Given the description of an element on the screen output the (x, y) to click on. 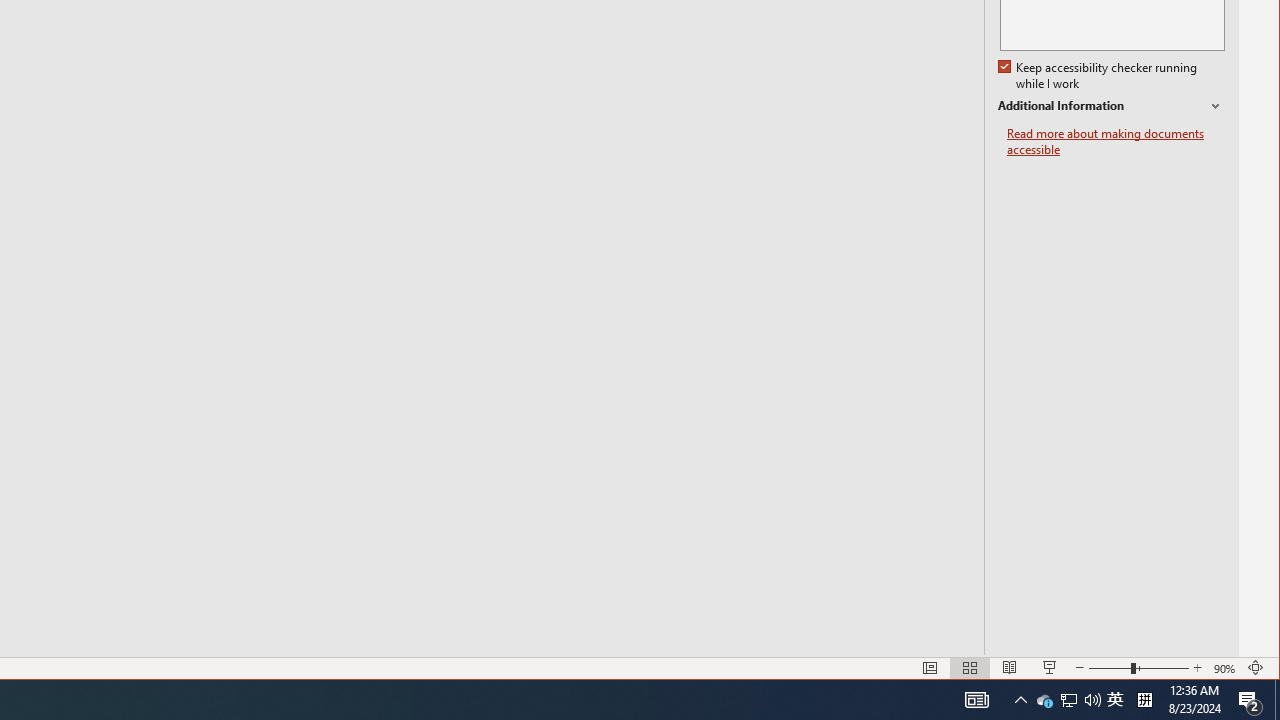
User Promoted Notification Area (1068, 699)
AutomationID: 4105 (1069, 699)
Q2790: 100% (976, 699)
Additional Information (1092, 699)
Show desktop (1111, 106)
Normal (1277, 699)
